Given the description of an element on the screen output the (x, y) to click on. 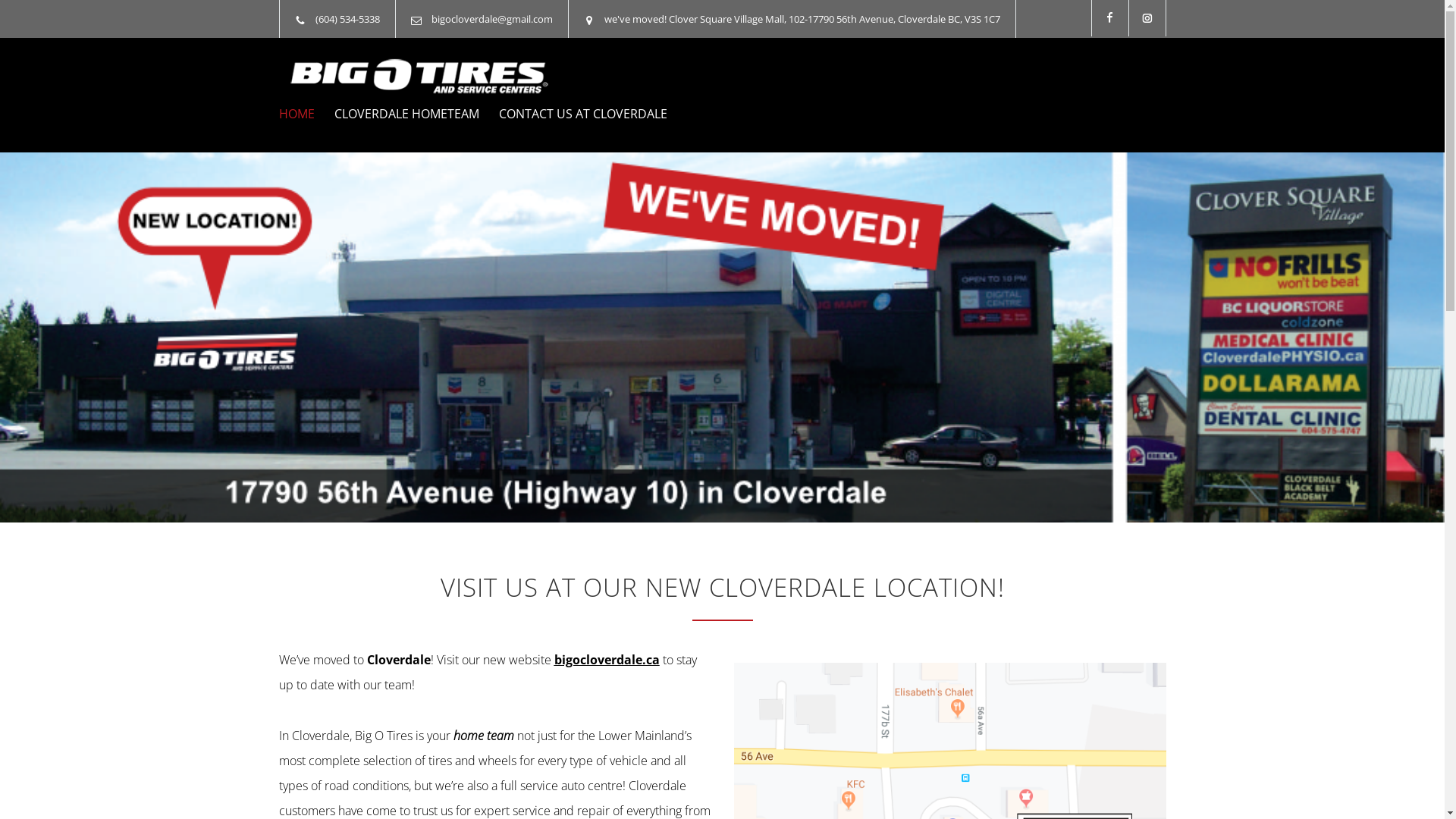
Big O Tires Langley Element type: hover (419, 75)
HOME Element type: text (296, 113)
CLOVERDALE HOMETEAM Element type: text (395, 113)
bigocloverdale.ca Element type: text (605, 659)
CONTACT US AT CLOVERDALE Element type: text (573, 113)
bigocloverdale@gmail.com Element type: text (491, 18)
